Given the description of an element on the screen output the (x, y) to click on. 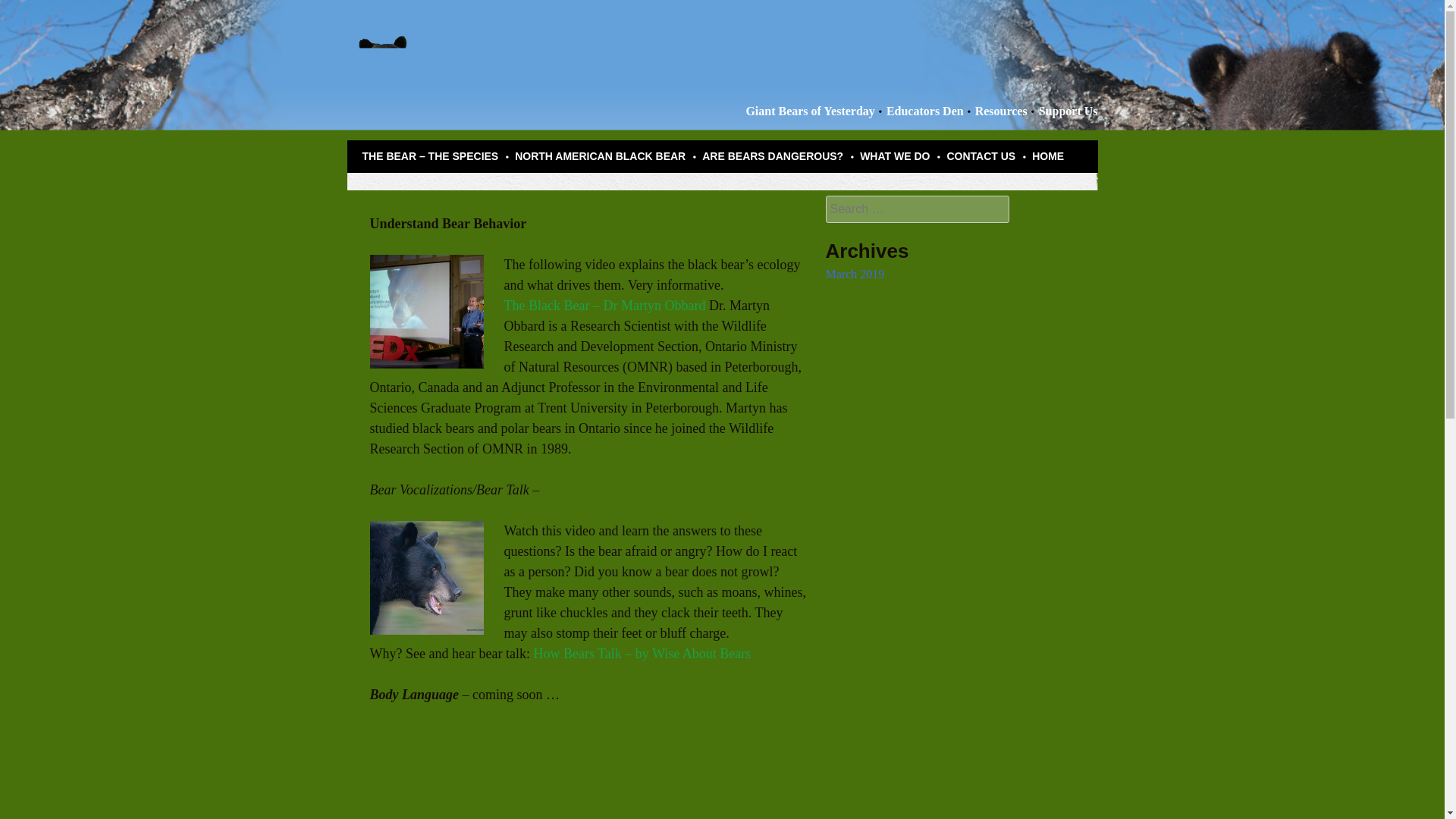
NORTH AMERICAN BLACK BEAR (600, 156)
March 2019 (854, 273)
ARE BEARS DANGEROUS? (772, 156)
Resources (1001, 111)
HOME (1048, 156)
WHAT WE DO (895, 156)
Search (25, 9)
Support Us (1068, 111)
Educators Den (924, 111)
CONTACT US (980, 156)
Giant Bears of Yesterday (810, 111)
